Given the description of an element on the screen output the (x, y) to click on. 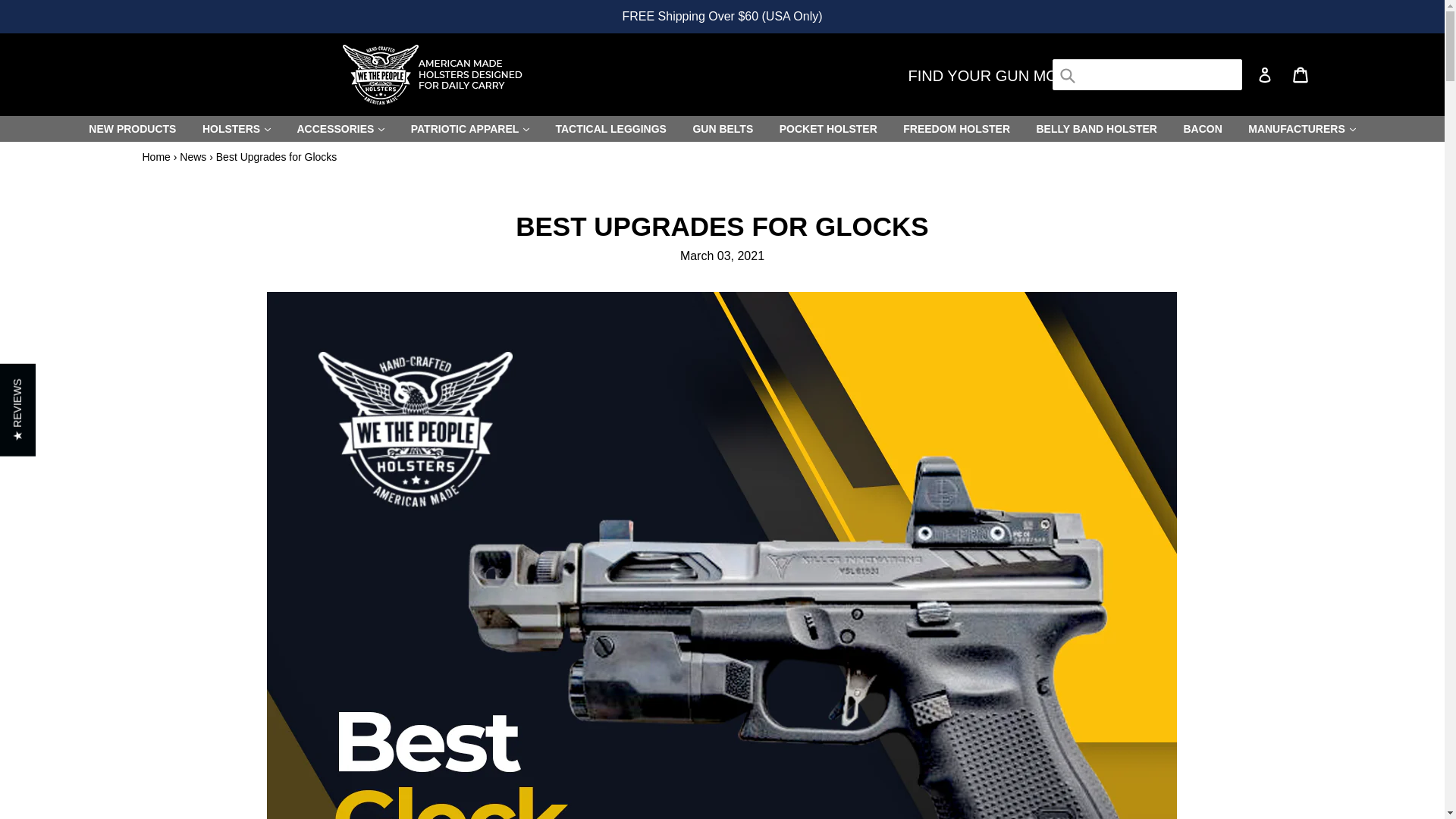
Home (156, 156)
